Given the description of an element on the screen output the (x, y) to click on. 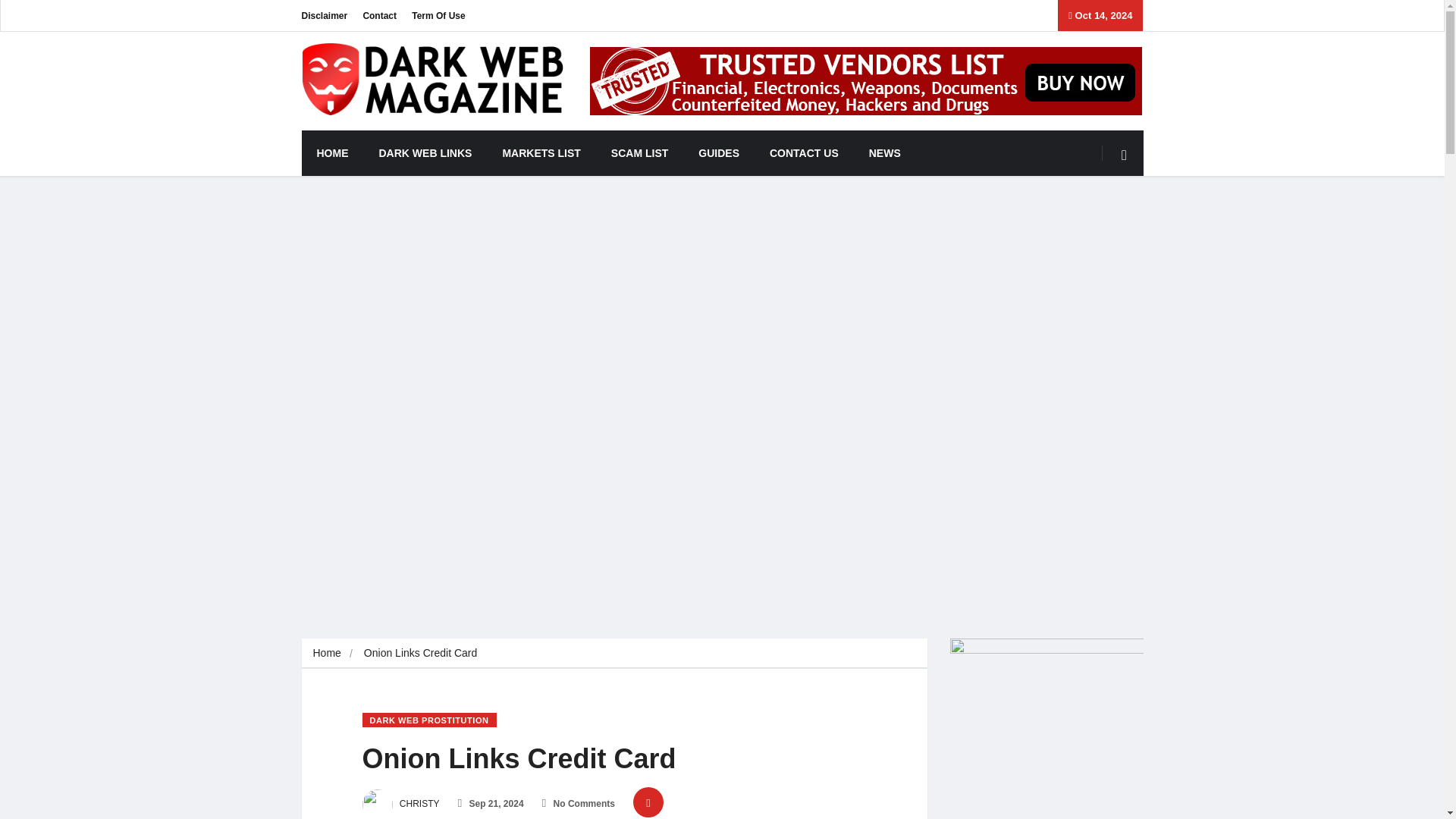
HOME (332, 153)
Contact (379, 15)
DARK WEB LINKS (425, 153)
DARK WEB PROSTITUTION (429, 719)
CHRISTY (400, 803)
Disclaimer (324, 15)
Home (326, 653)
NEWS (884, 153)
CONTACT US (803, 153)
Term Of Use (438, 15)
